Given the description of an element on the screen output the (x, y) to click on. 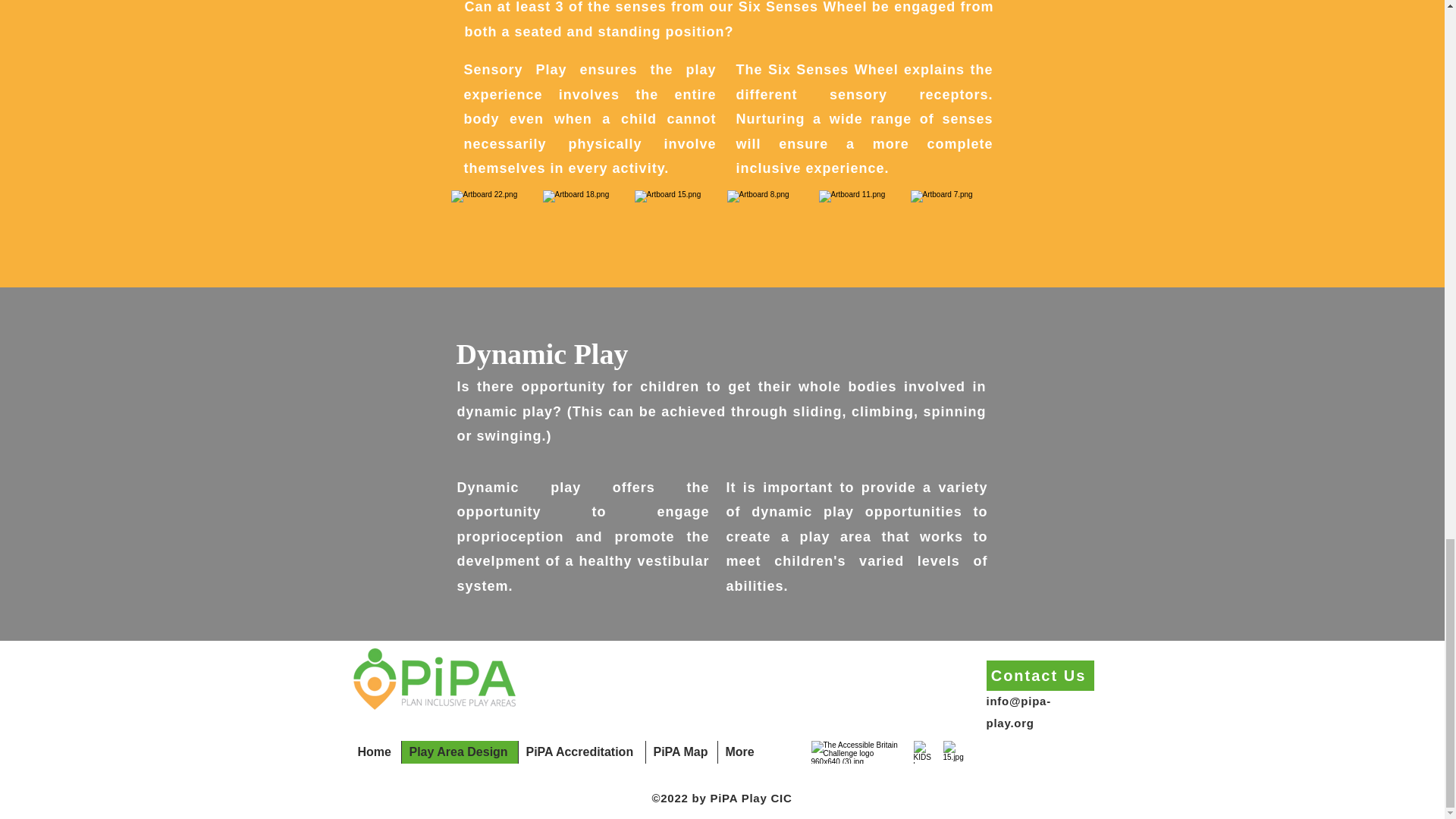
PiPA Accreditation (580, 752)
PiPA Map (680, 752)
Play Area Design (458, 752)
Home (375, 752)
Contact Us (1039, 675)
